Given the description of an element on the screen output the (x, y) to click on. 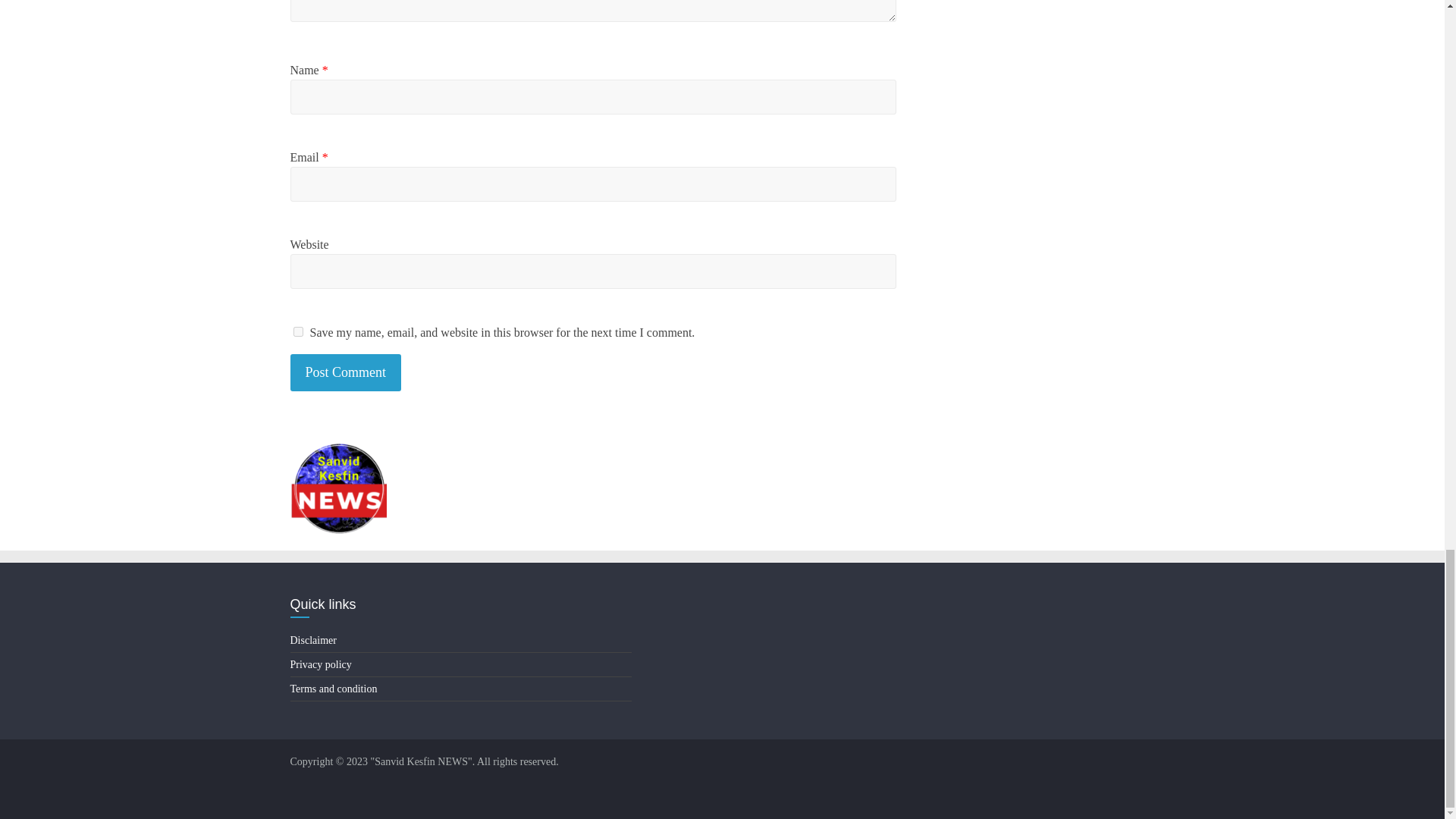
yes (297, 331)
Post Comment (345, 372)
